Given the description of an element on the screen output the (x, y) to click on. 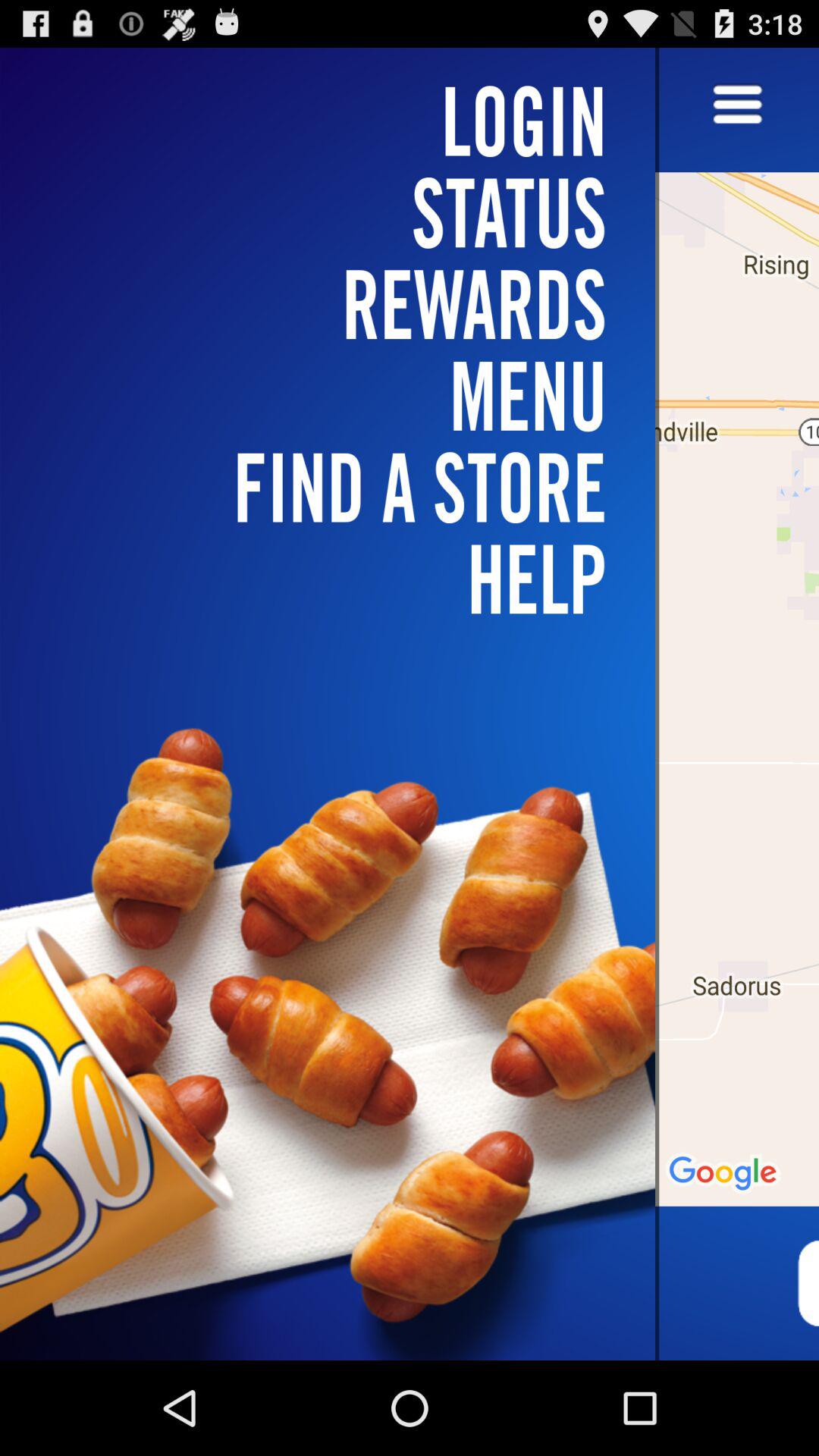
open the item below login item (336, 303)
